Given the description of an element on the screen output the (x, y) to click on. 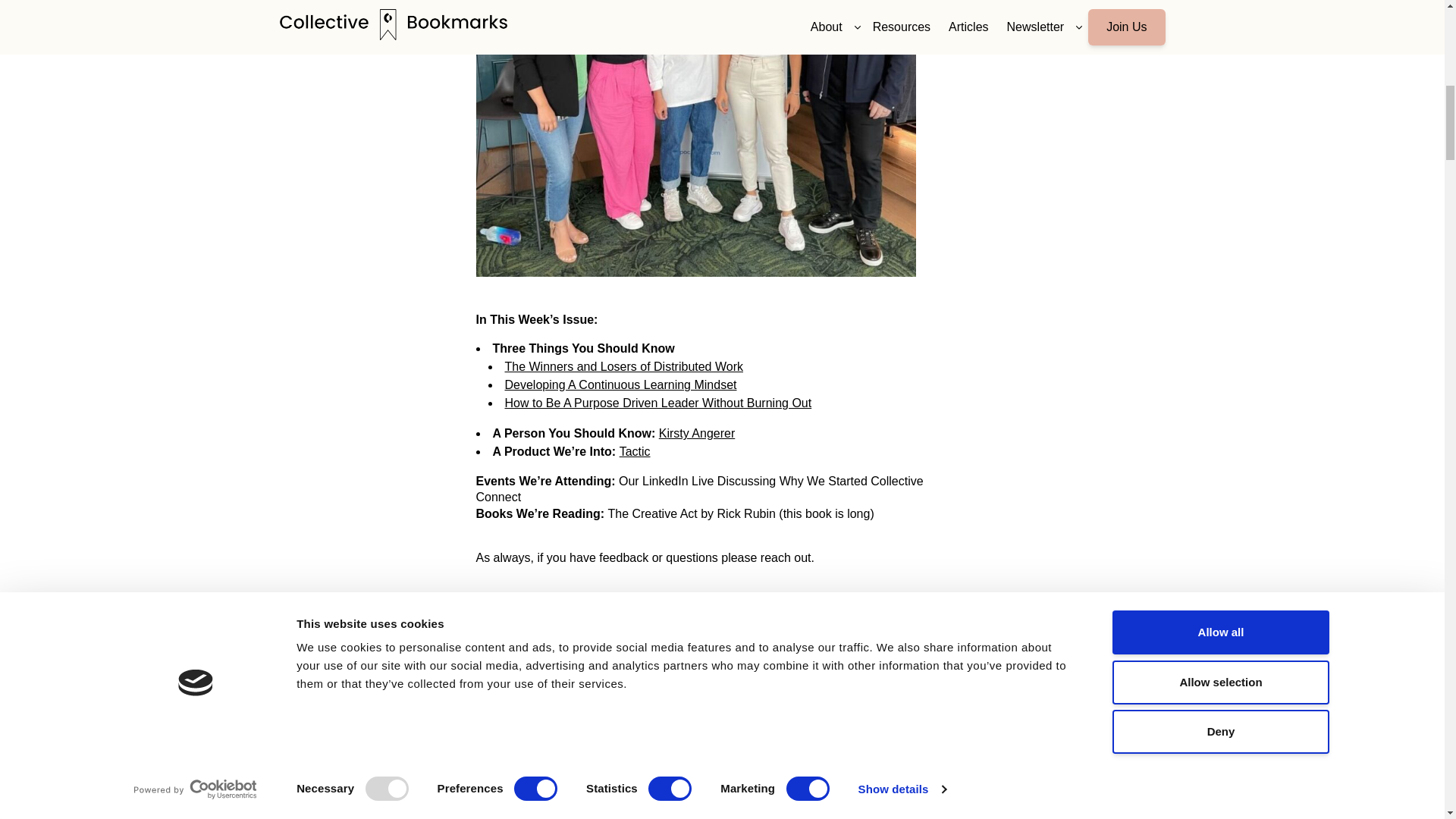
Subscribe Me! (777, 685)
